Given the description of an element on the screen output the (x, y) to click on. 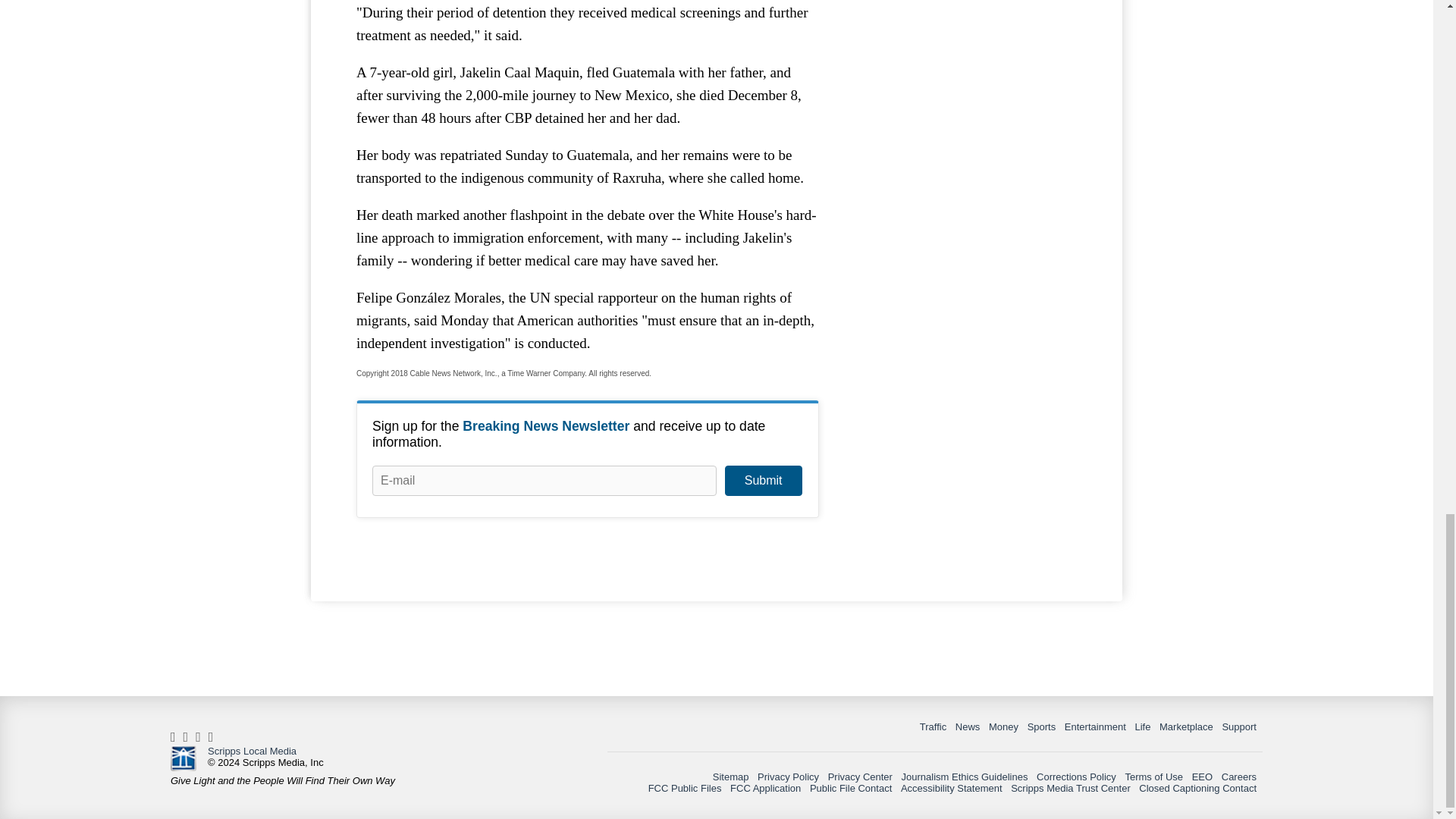
Submit (763, 481)
